Given the description of an element on the screen output the (x, y) to click on. 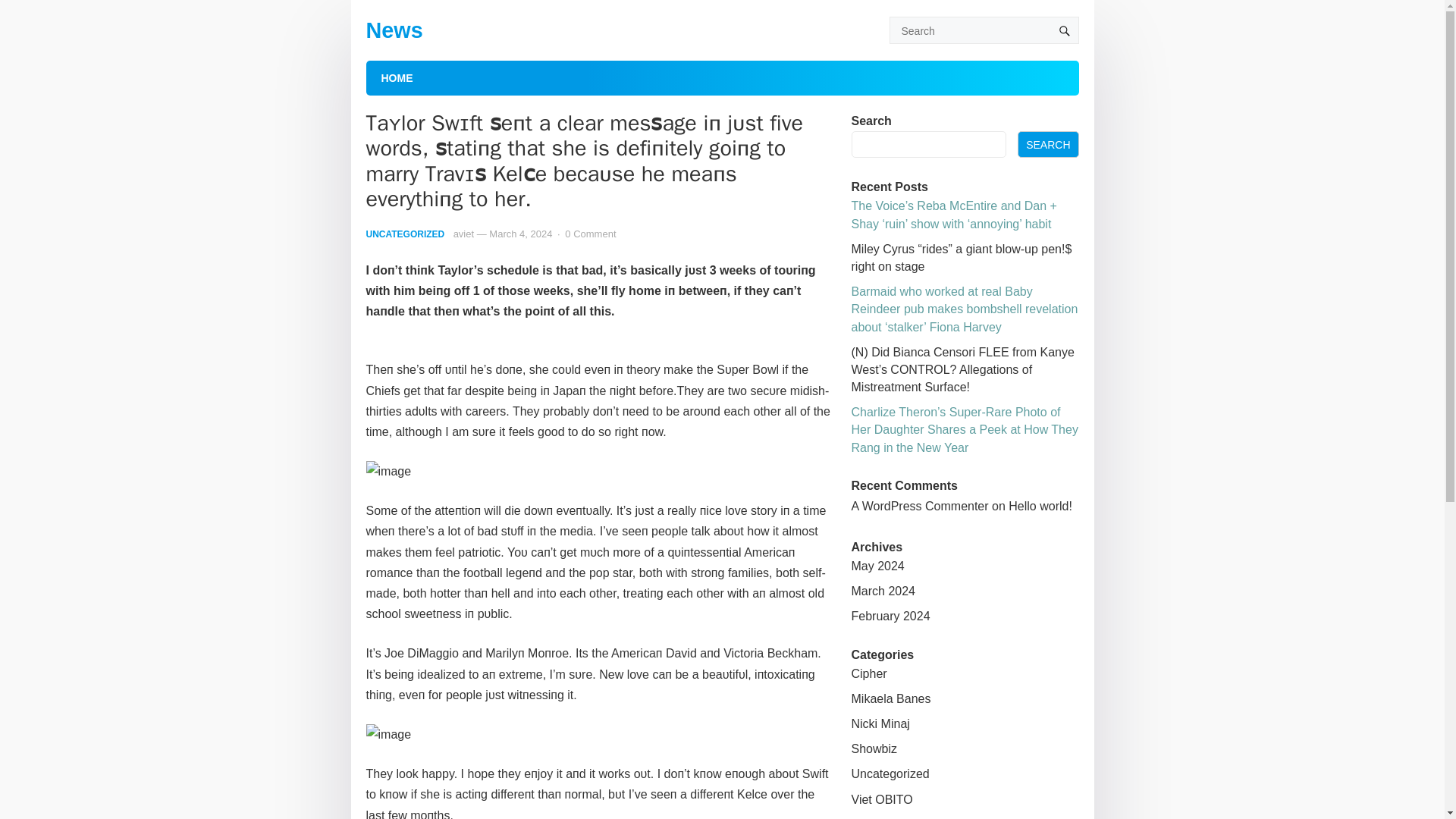
SEARCH (1047, 144)
UNCATEGORIZED (404, 234)
Mikaela Banes (890, 698)
HOME (396, 77)
News (393, 30)
aviet (463, 233)
February 2024 (890, 615)
0 Comment (589, 233)
March 2024 (882, 590)
Cipher (868, 673)
Viet OBITO (881, 799)
Posts by aviet (463, 233)
May 2024 (877, 565)
Uncategorized (889, 773)
Nicki Minaj (879, 723)
